Given the description of an element on the screen output the (x, y) to click on. 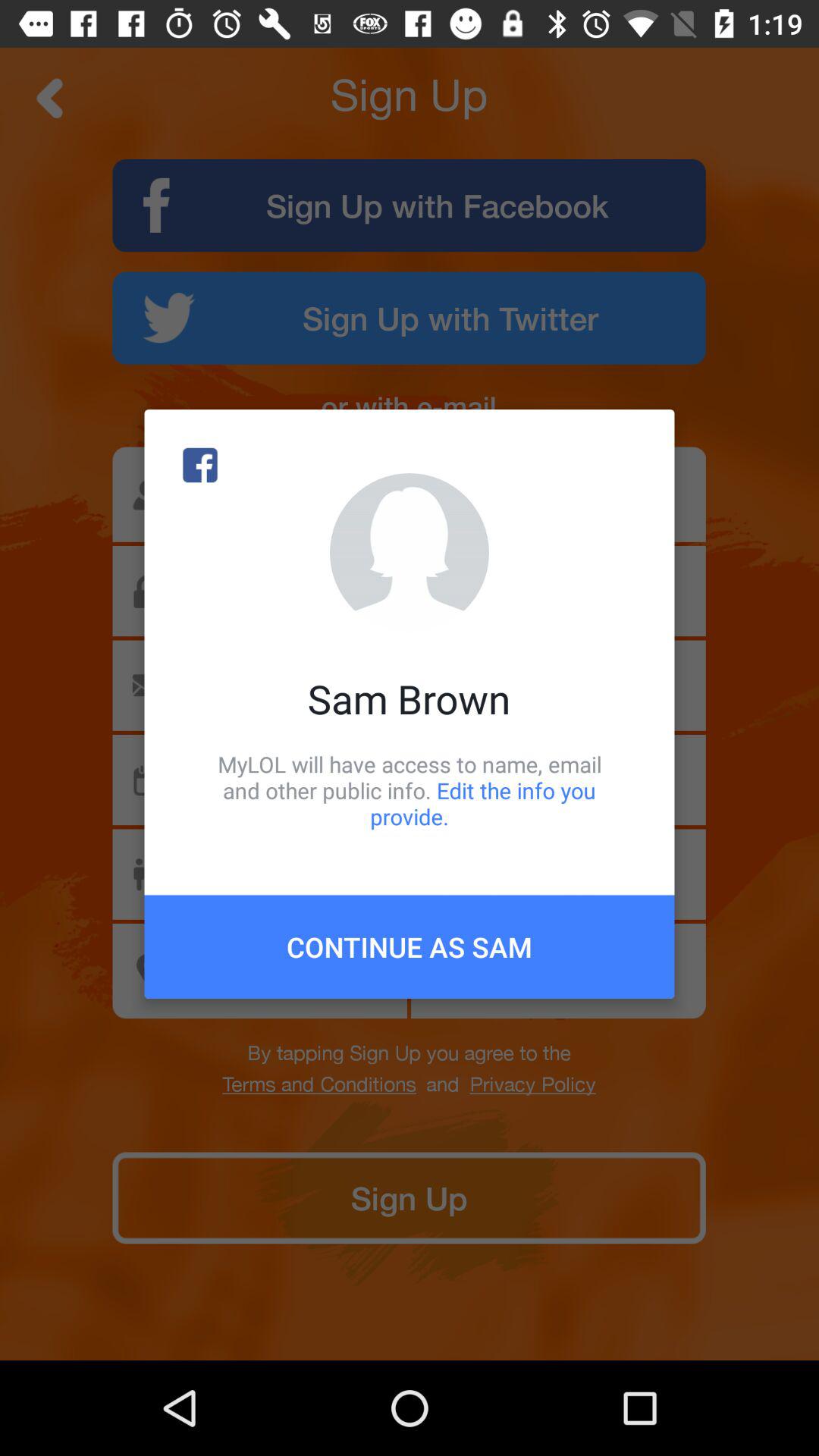
click mylol will have (409, 790)
